Given the description of an element on the screen output the (x, y) to click on. 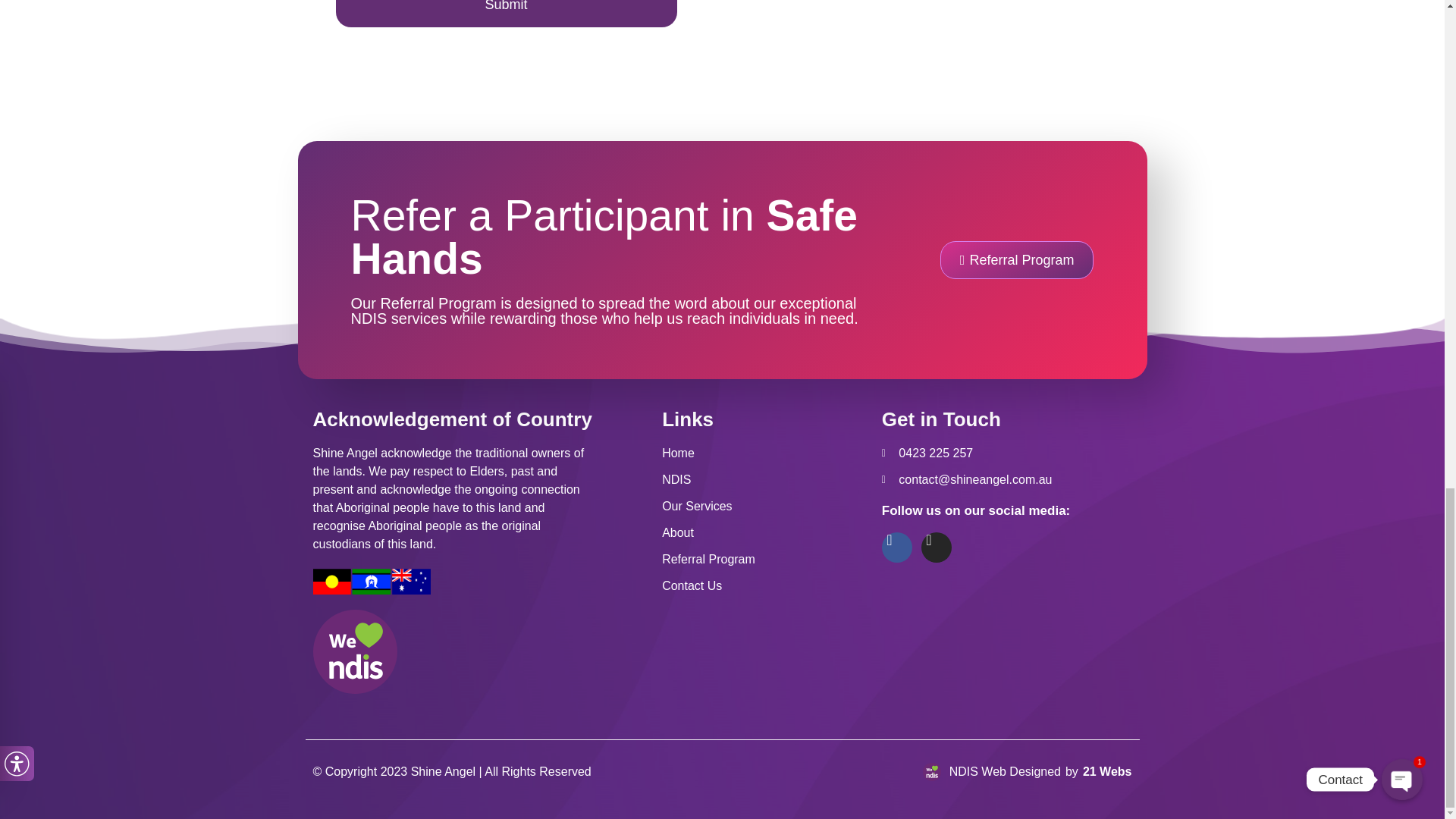
0423 225 257 (1005, 453)
About (764, 533)
Referral Program (764, 559)
Home (764, 453)
Submit (505, 13)
Contact Us (764, 586)
Referral Program (1017, 259)
Our Services (764, 506)
NDIS (764, 479)
